Given the description of an element on the screen output the (x, y) to click on. 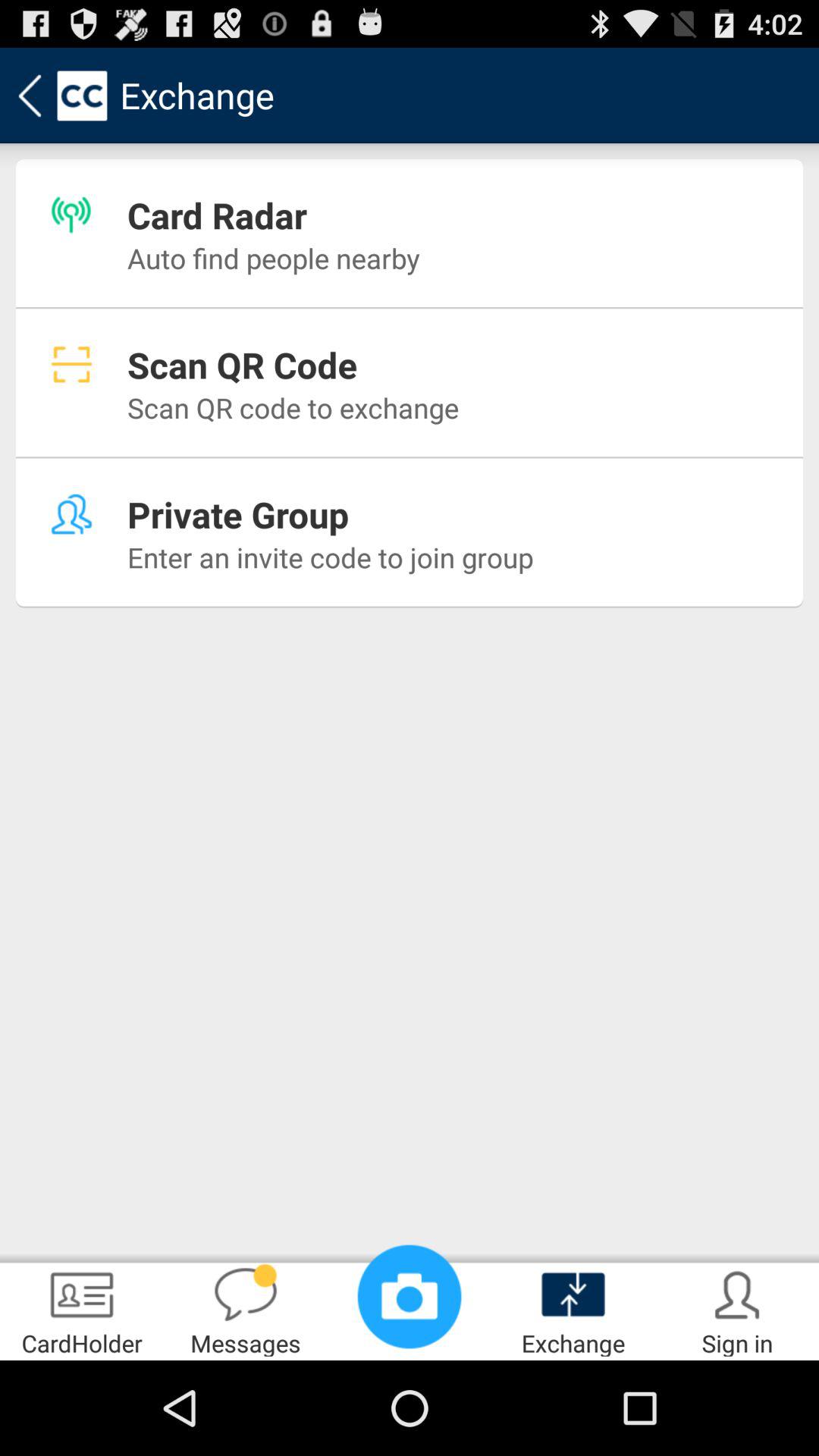
select app below enter an invite icon (81, 1309)
